Given the description of an element on the screen output the (x, y) to click on. 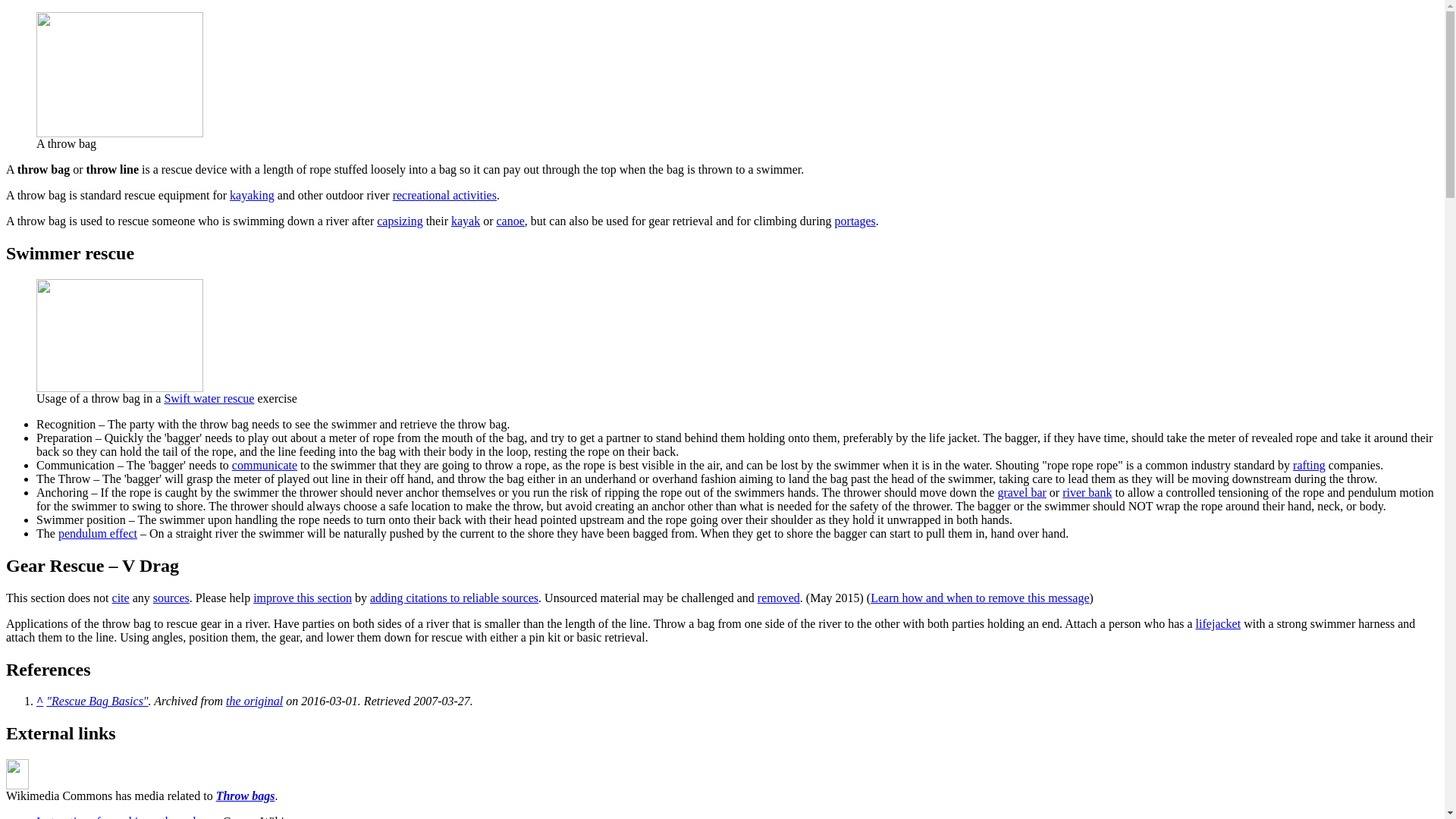
Communicate (264, 464)
kayak (465, 220)
Kayak (465, 220)
"Rescue Bag Basics" (97, 700)
the original (253, 700)
Personal flotation device (1218, 623)
cite (120, 597)
Kayaking (252, 195)
Capsizing (399, 220)
Rafting (1308, 464)
